Given the description of an element on the screen output the (x, y) to click on. 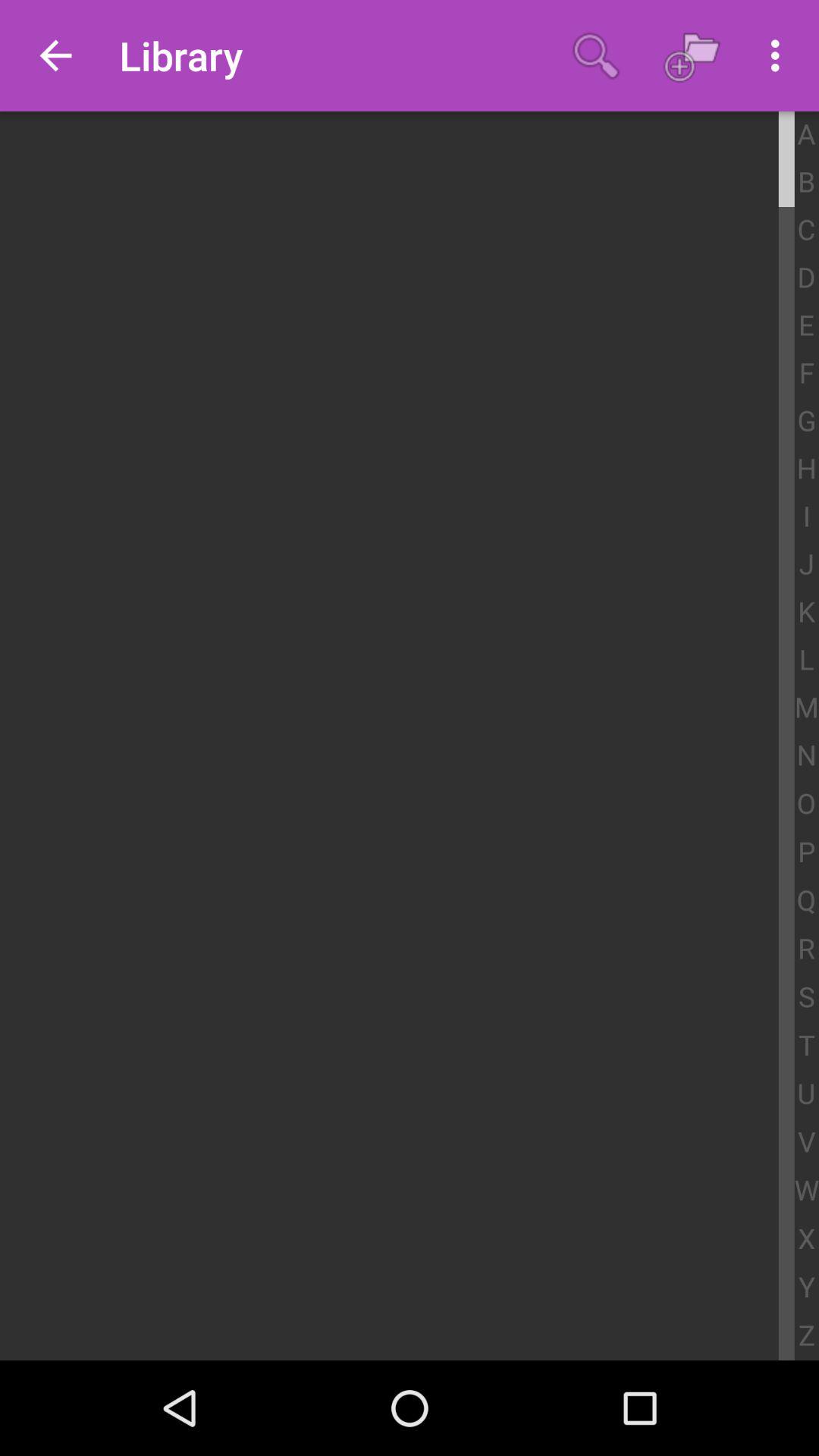
click the item to the right of library app (595, 55)
